Given the description of an element on the screen output the (x, y) to click on. 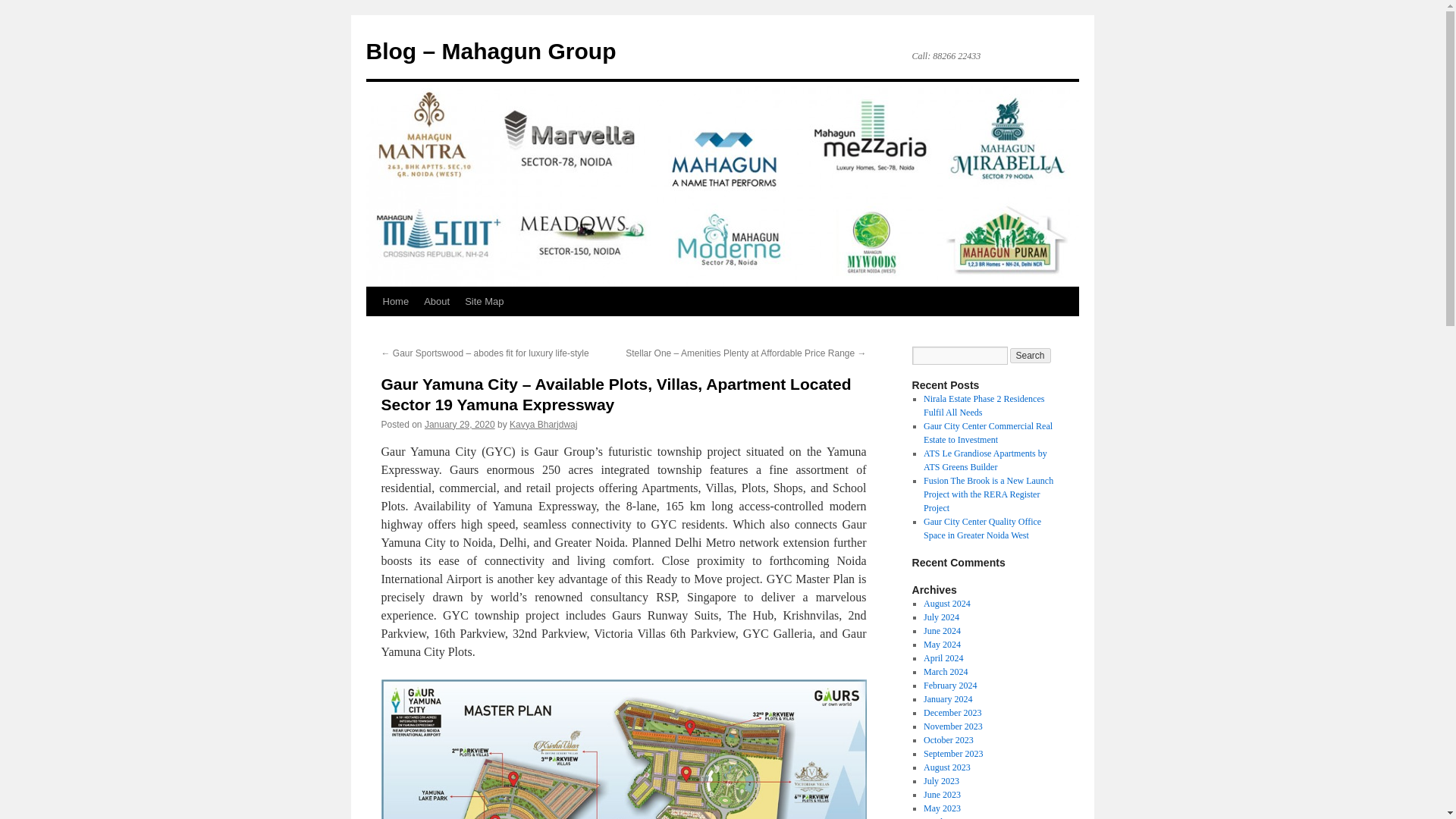
August 2024 (947, 603)
February 2024 (949, 685)
Search (1030, 355)
About (436, 301)
Gaur City Center Quality Office Space in Greater Noida West (982, 528)
January 2024 (947, 698)
April 2024 (942, 657)
Search (1030, 355)
5:00 am (460, 424)
